Given the description of an element on the screen output the (x, y) to click on. 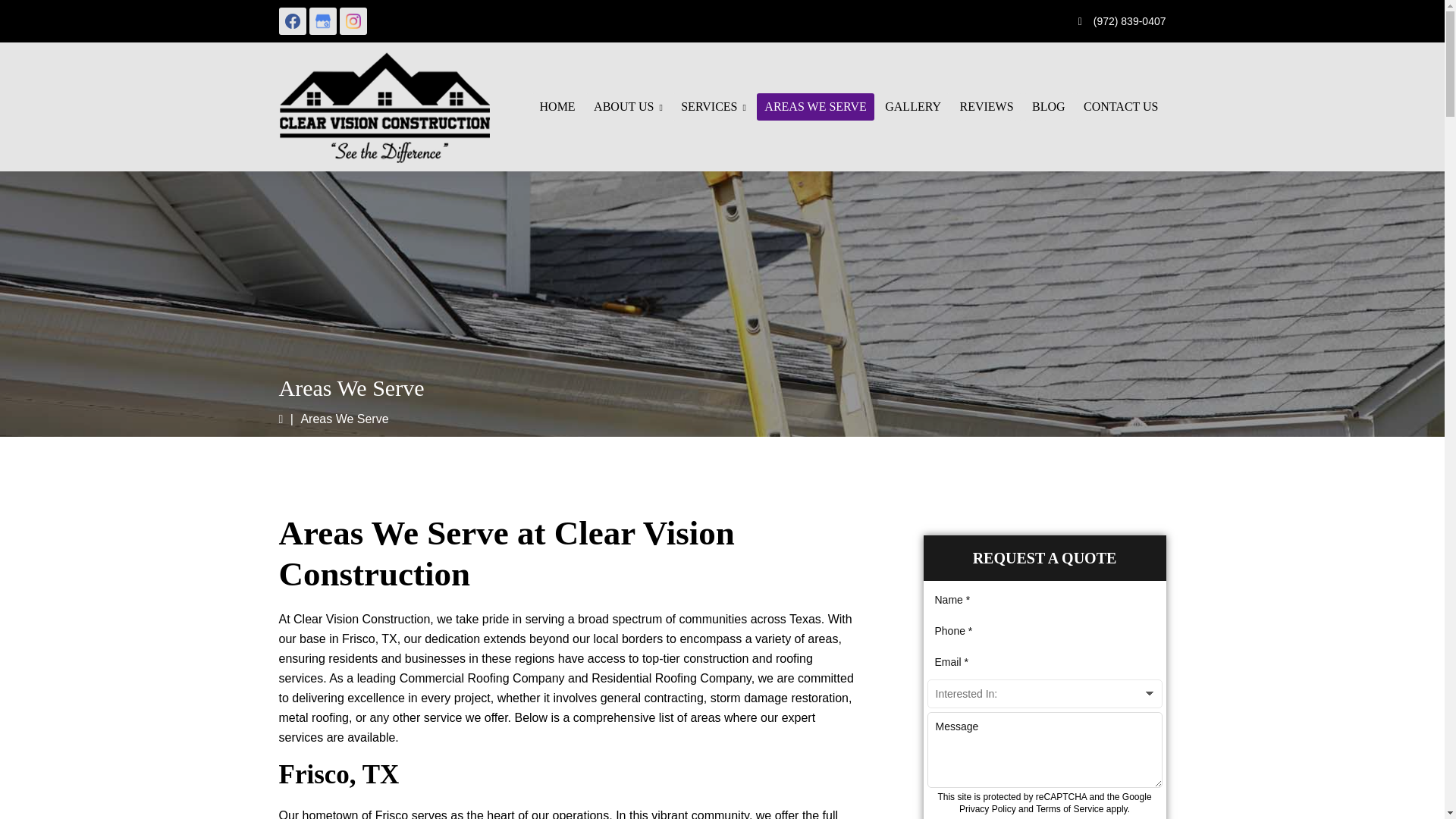
BLOG (1049, 106)
Terms of Service (1069, 808)
Privacy Policy (987, 808)
ABOUT US (627, 106)
Google Business Profile (322, 21)
REVIEWS (986, 106)
Instagram (352, 21)
HOME (557, 106)
AREAS WE SERVE (815, 106)
